Given the description of an element on the screen output the (x, y) to click on. 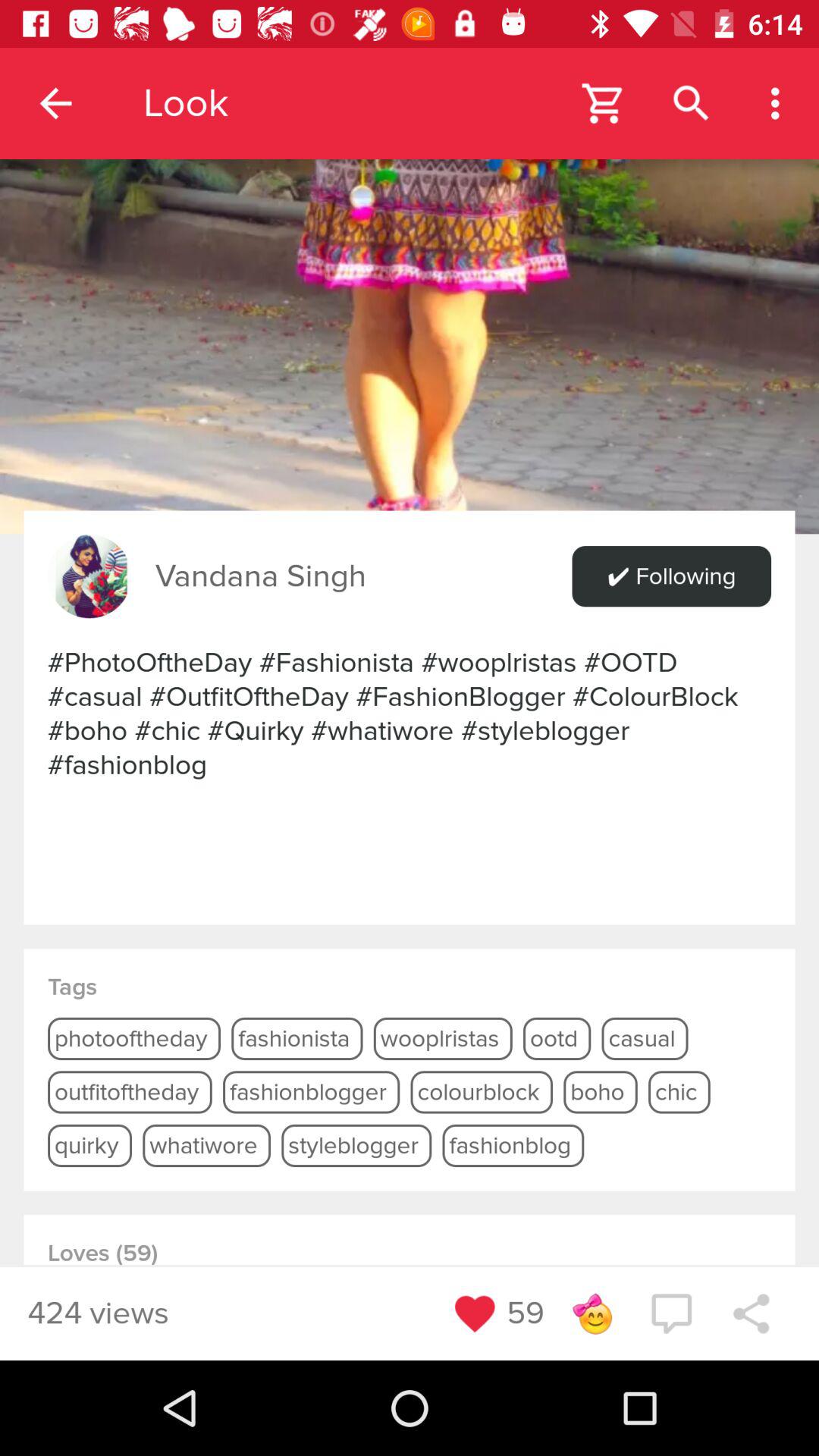
select the icon next to the vandana singh item (89, 576)
